Given the description of an element on the screen output the (x, y) to click on. 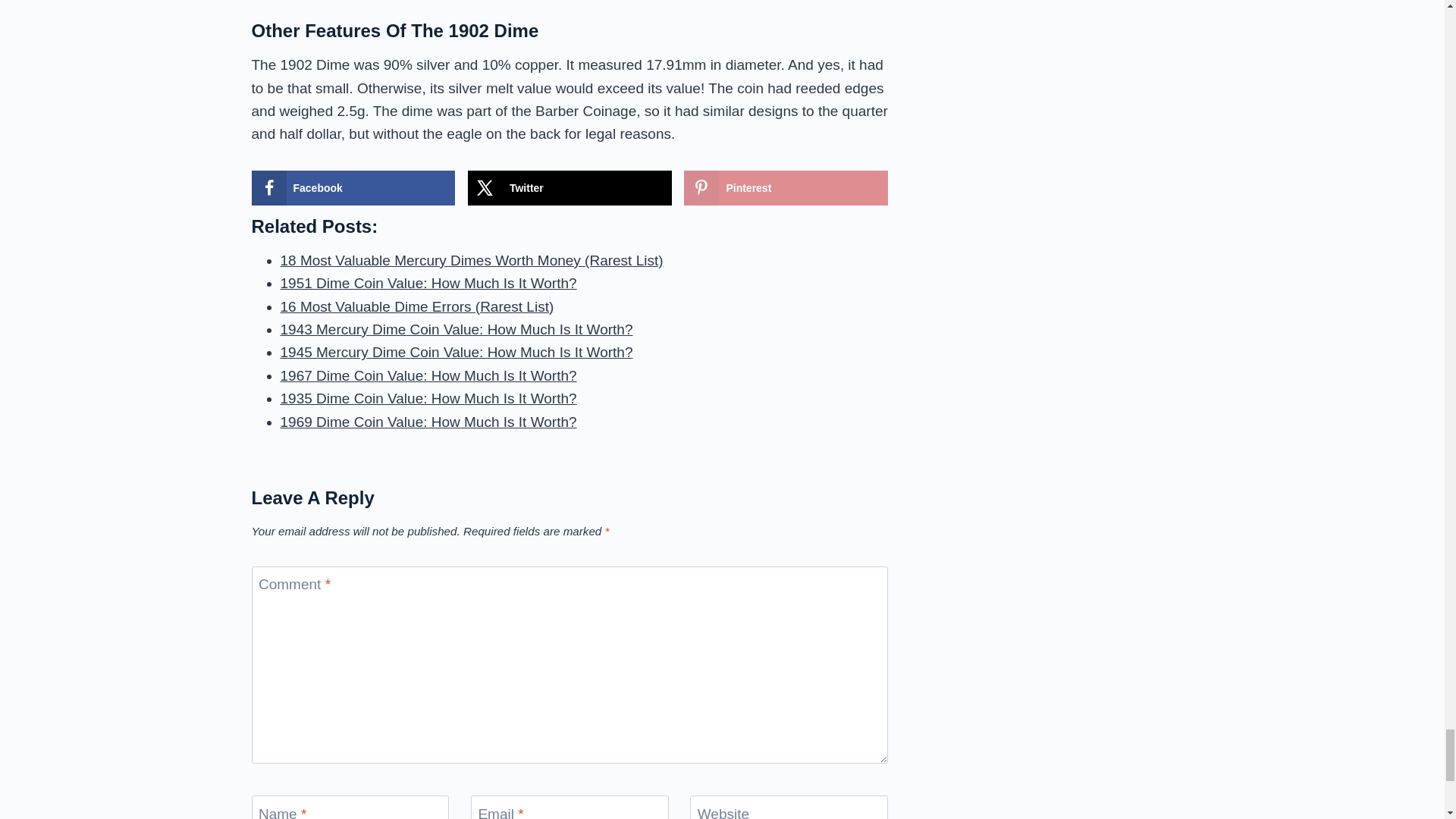
1945 Mercury Dime Coin Value: How Much Is It Worth? (457, 351)
Pinterest (786, 187)
Twitter (569, 187)
1951 Dime Coin Value: How Much Is It Worth? (428, 283)
Share on Facebook (353, 187)
1967 Dime Coin Value: How Much Is It Worth? (428, 375)
Share on X (569, 187)
1935 Dime Coin Value: How Much Is It Worth? (428, 398)
1945 Mercury Dime Coin Value: How Much Is It Worth? (457, 351)
Facebook (353, 187)
